Given the description of an element on the screen output the (x, y) to click on. 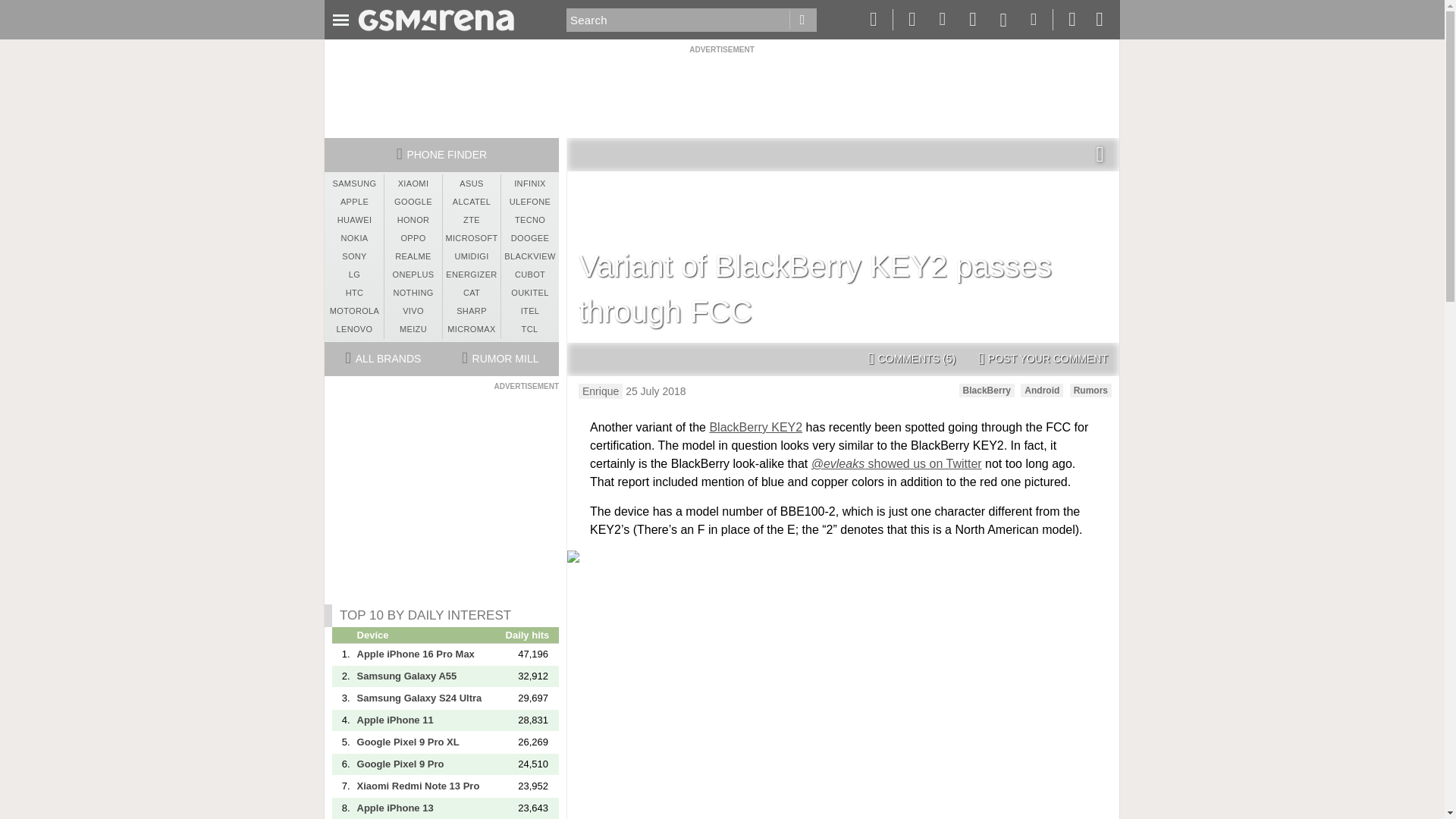
Rumors (1091, 390)
BlackBerry KEY2 (755, 427)
BlackBerry (986, 390)
POST YOUR COMMENT (1042, 359)
Go (802, 19)
Go (802, 19)
Android (1041, 390)
Enrique (600, 391)
